Given the description of an element on the screen output the (x, y) to click on. 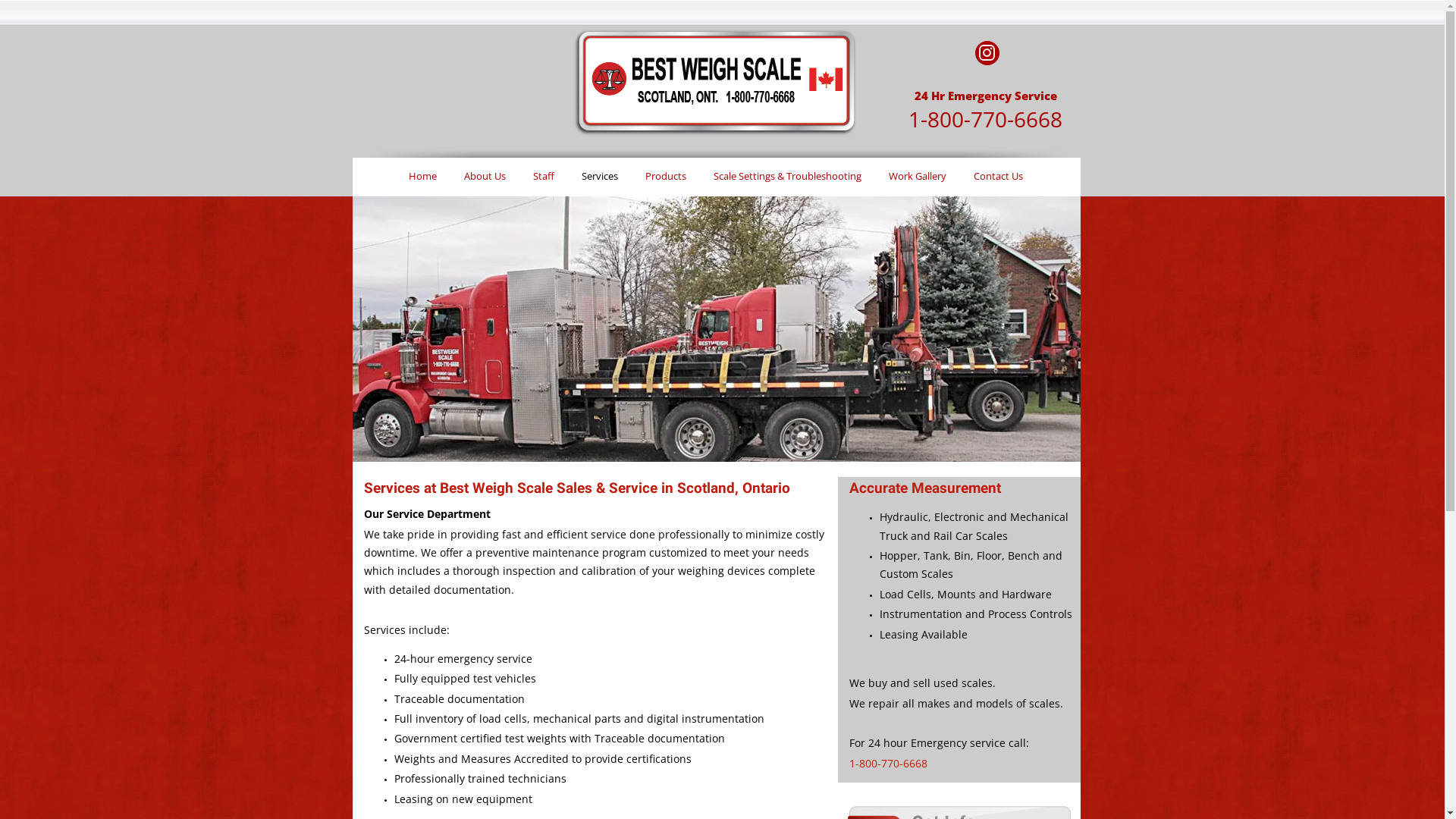
1-800-770-6668 Element type: text (985, 118)
Contact Us Element type: text (998, 176)
Services Element type: text (599, 174)
Scale Settings & Troubleshooting Element type: text (787, 176)
Products Element type: text (665, 176)
Work Gallery Element type: text (917, 176)
1-800-770-6668 Element type: text (888, 763)
About Us Element type: text (484, 176)
Home Element type: text (422, 176)
Staff Element type: text (543, 176)
